Given the description of an element on the screen output the (x, y) to click on. 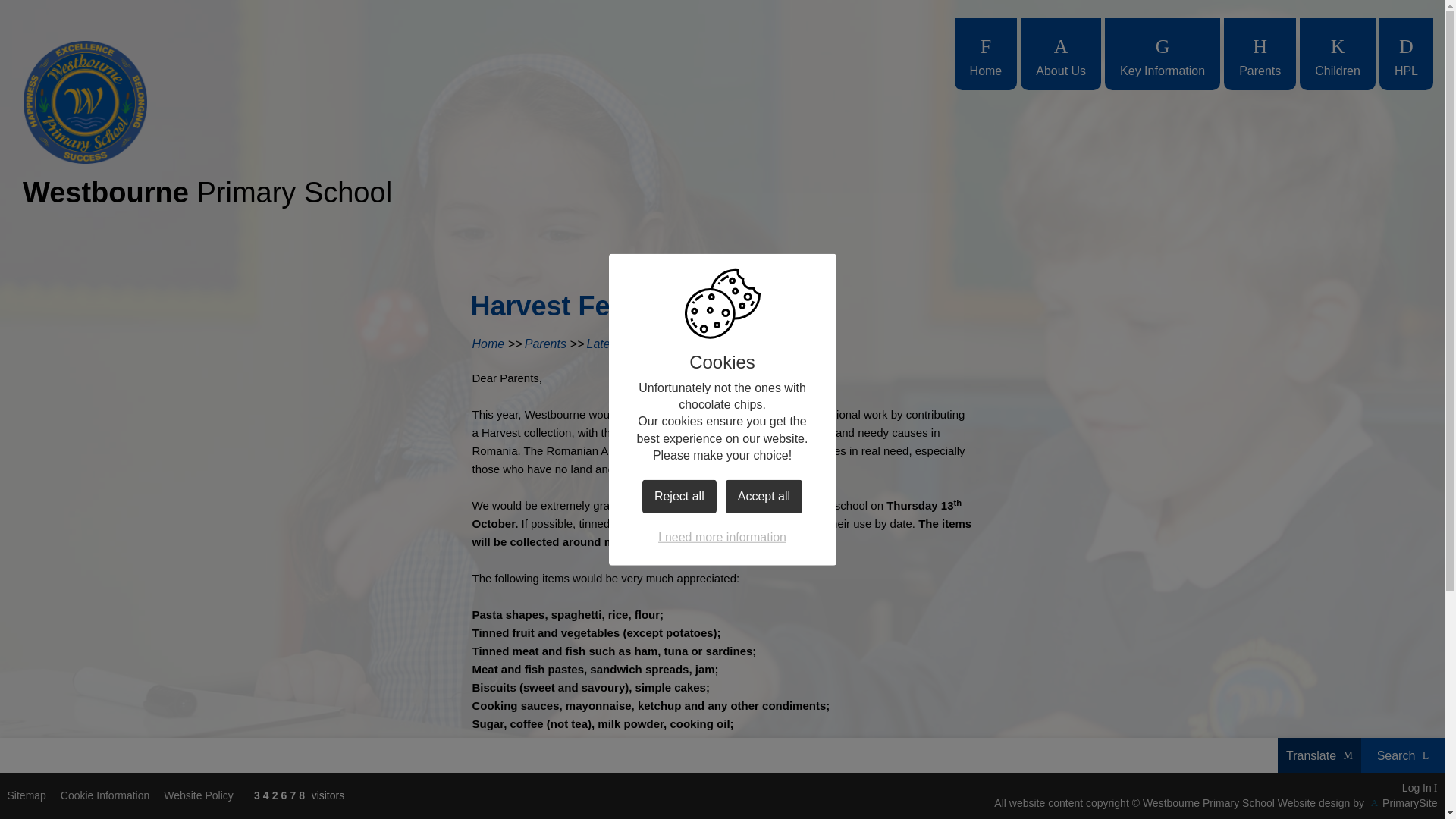
About Us (1060, 54)
Key Information (1162, 54)
Home Page (85, 101)
